Given the description of an element on the screen output the (x, y) to click on. 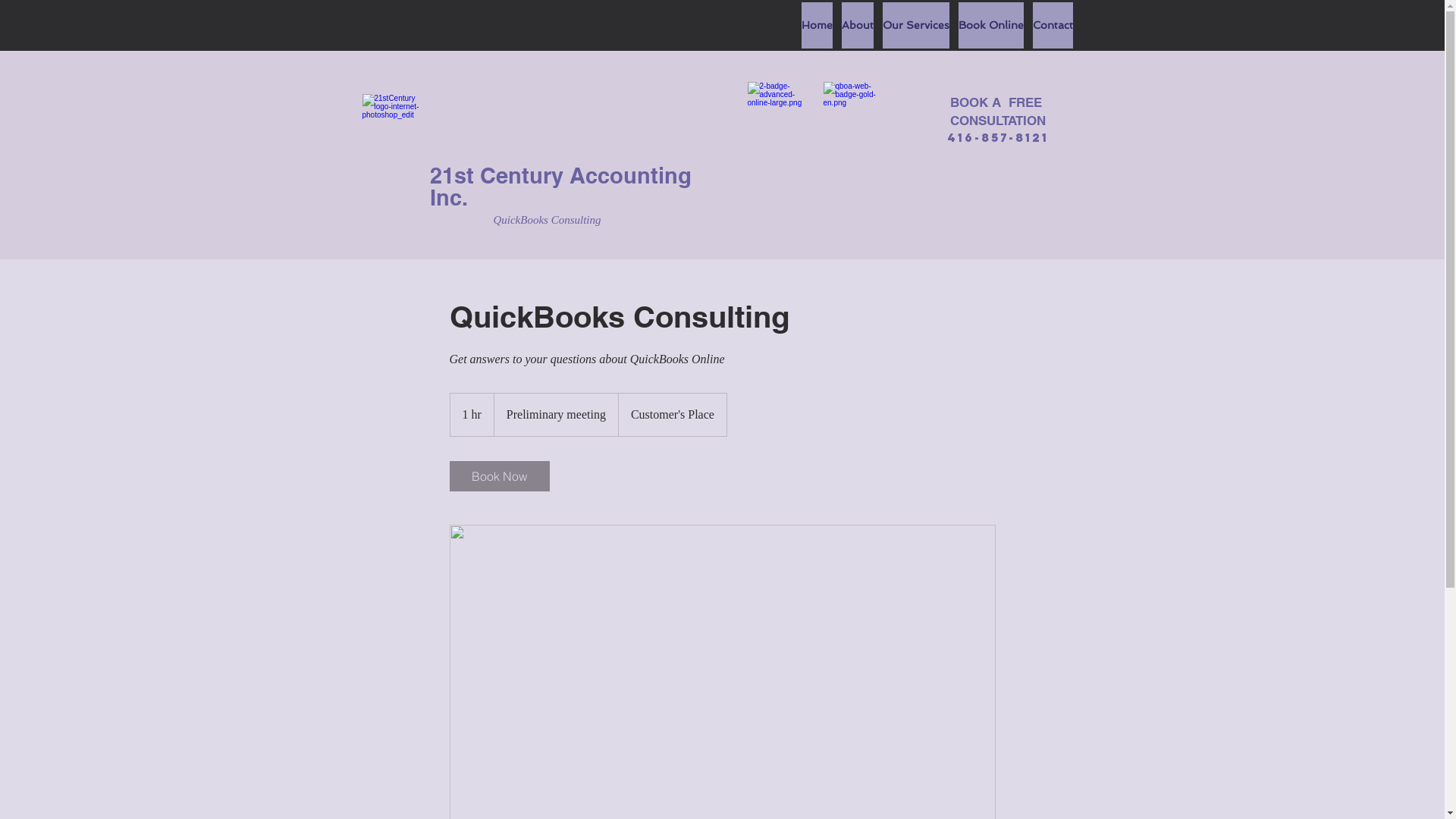
About Element type: text (857, 25)
Our Services Element type: text (915, 25)
Contact Element type: text (1052, 25)
Book Online Element type: text (990, 25)
Book Now Element type: text (498, 476)
Home Element type: text (815, 25)
21st Century Accounting Inc. Element type: text (559, 186)
